Given the description of an element on the screen output the (x, y) to click on. 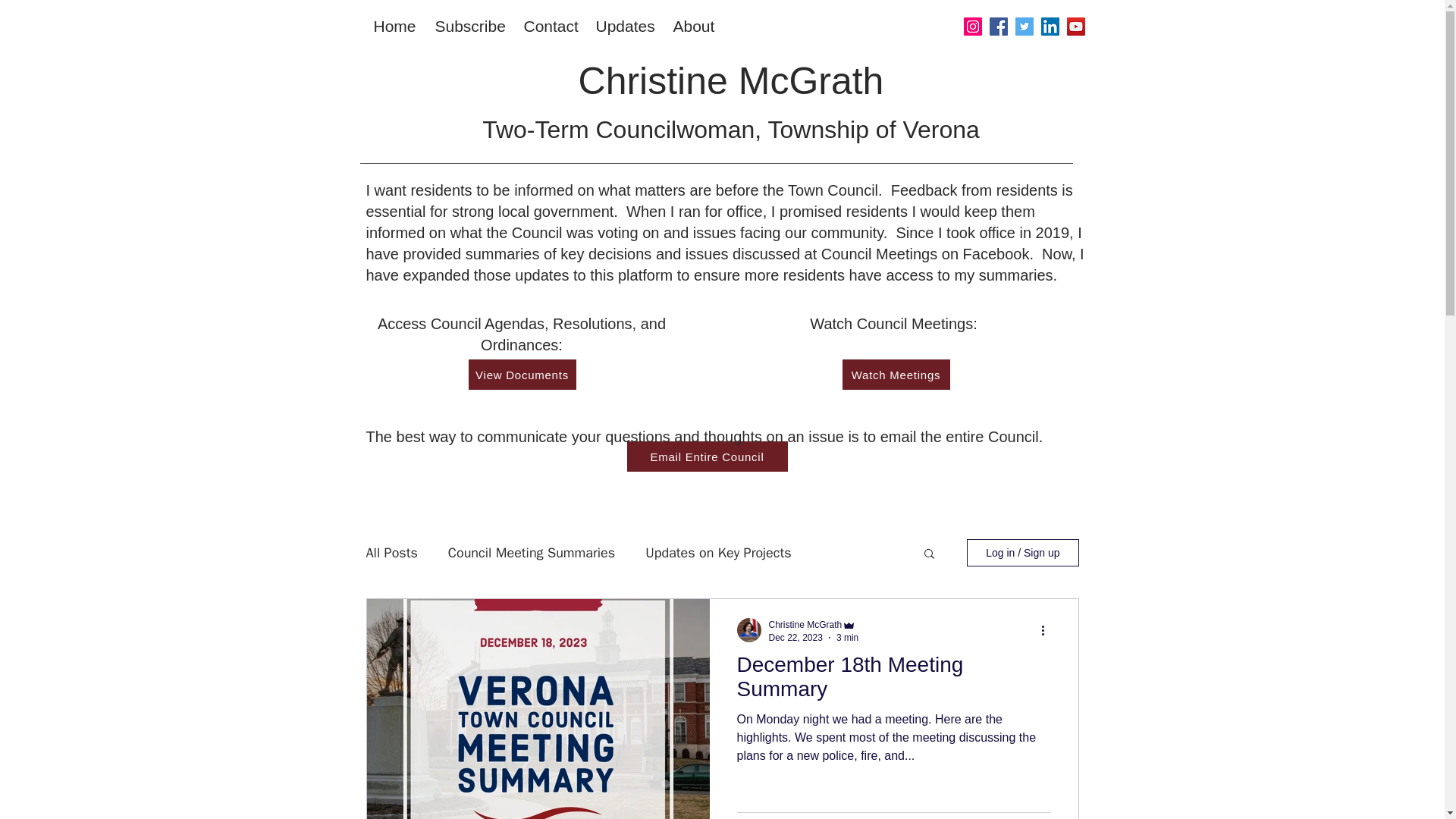
All Posts (390, 552)
About (695, 26)
Watch Meetings (895, 374)
Updates (626, 26)
December 18th Meeting Summary (893, 680)
View Documents (522, 374)
Christine McGrath (730, 80)
3 min (847, 637)
Contact (551, 26)
Updates on Key Projects (717, 552)
Dec 22, 2023 (795, 637)
Council Meeting Summaries (531, 552)
Subscribe (472, 26)
Christine McGrath (805, 624)
Home (395, 26)
